Given the description of an element on the screen output the (x, y) to click on. 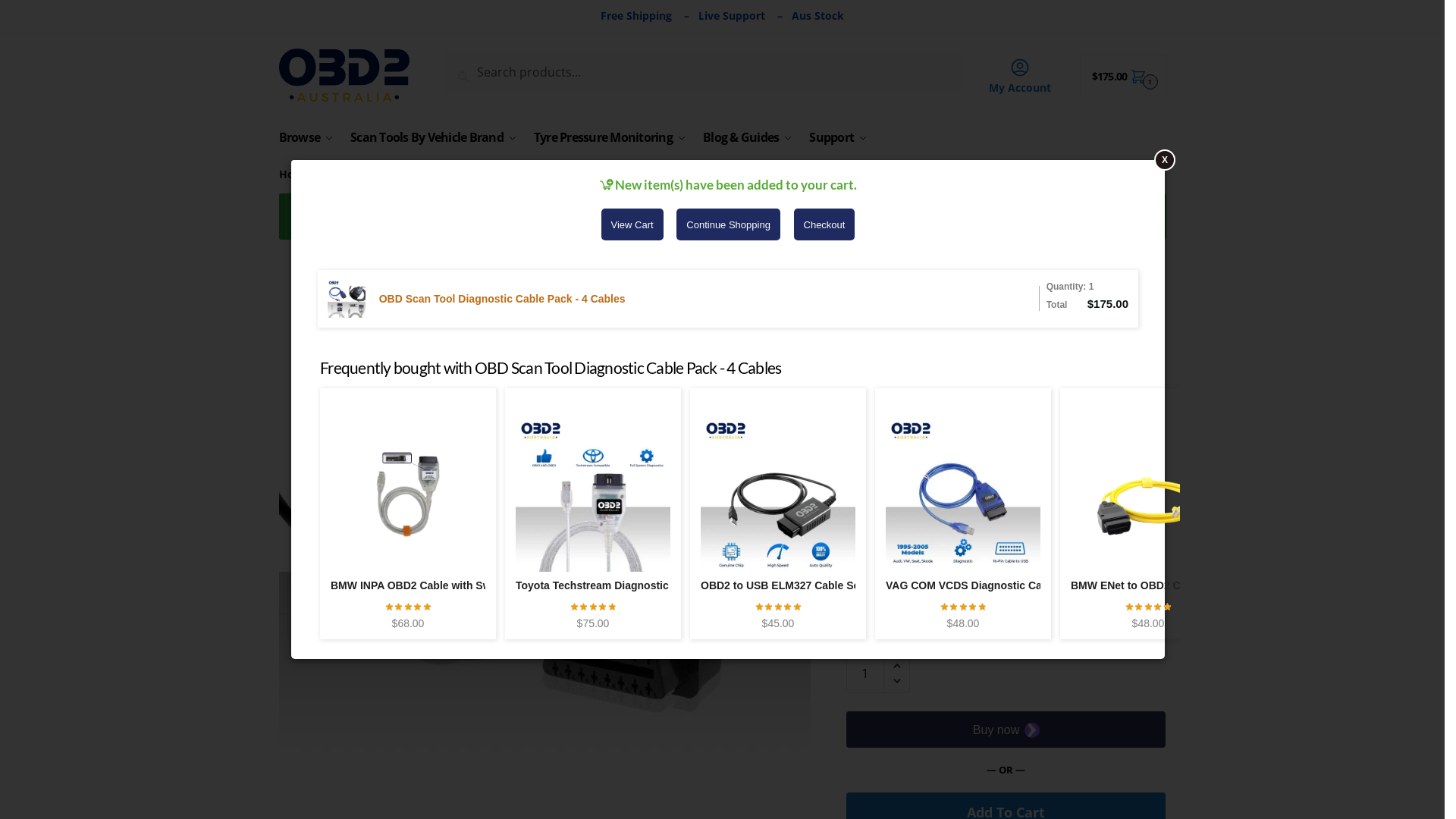
Continue Shopping Element type: text (728, 224)
Support Element type: text (838, 137)
BMW INPA OBD2 Cable with Switch Element type: text (419, 585)
Scan Tools By Vehicle Brand Element type: text (433, 137)
VAG COM VCDS Diagnostic Cable - OBD K Line Element type: text (1005, 585)
Blog & Guides Element type: text (747, 137)
View Cart Element type: text (632, 224)
Checkout Element type: text (824, 224)
Secure payment button frame Element type: hover (1005, 729)
OBD2 Cables Element type: text (356, 173)
Tool Click Here. Element type: text (1091, 611)
Checkout Element type: text (1105, 216)
OBD2 to USB ELM327 Cable Scan Tool Element type: text (798, 585)
Tyre Pressure Monitoring Element type: text (610, 137)
BMW ENet to OBD2 Cable BootMod3 Element type: text (1163, 585)
Browse Element type: text (309, 137)
Toyota Techstream Diagnostic Cable Element type: text (607, 585)
Search Element type: text (470, 61)
OBD Scan Tool Diagnostic Cable Pack - 4 Cables Element type: text (502, 298)
38 pin to 16 pin obd2 adapter cable mercedes benz older a Element type: hover (545, 528)
$175.00 1 Element type: text (1122, 75)
My Account Element type: text (1019, 75)
Home Element type: text (294, 173)
View Cart Element type: text (1020, 216)
